Given the description of an element on the screen output the (x, y) to click on. 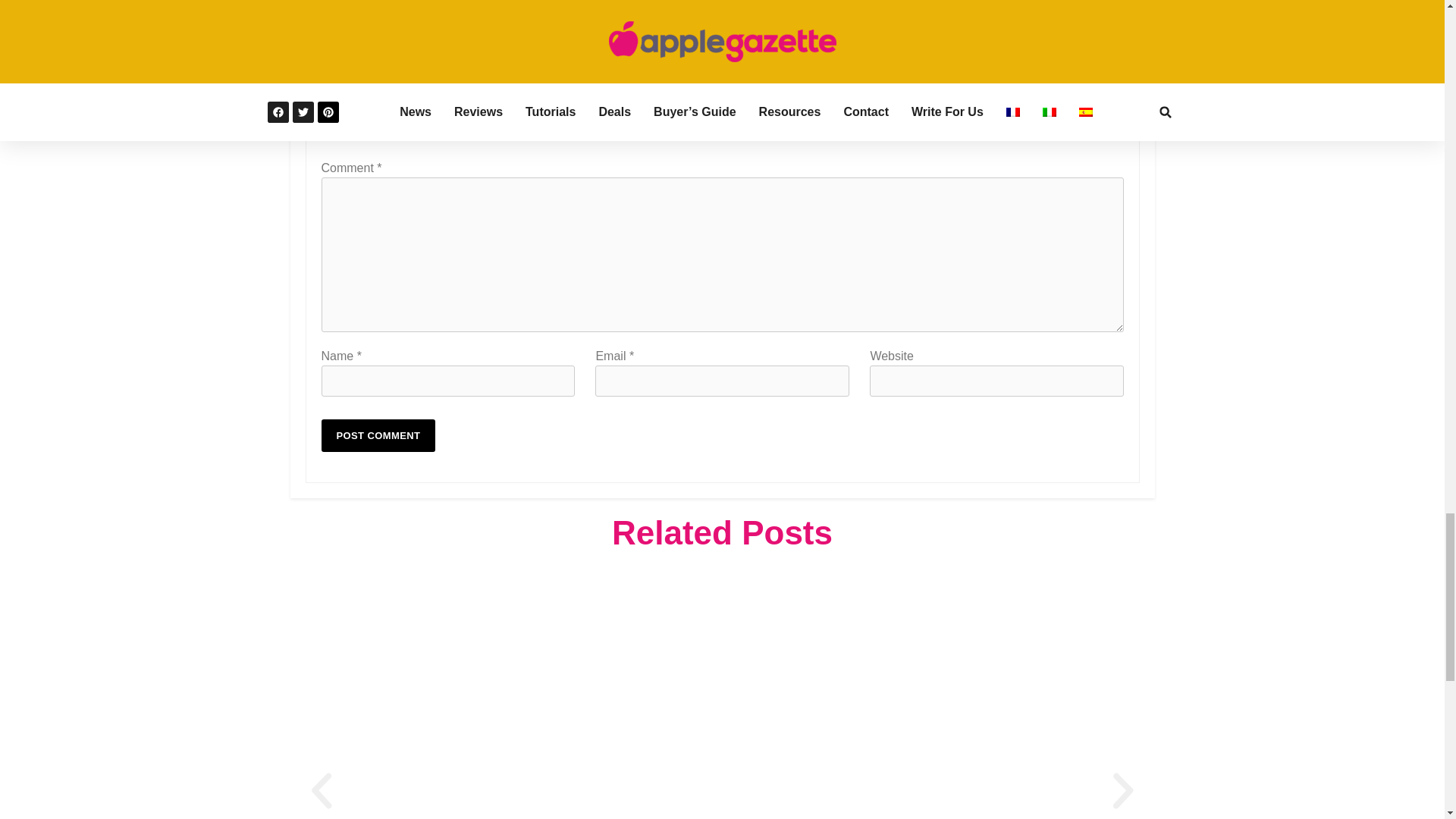
Post Comment (378, 435)
